Given the description of an element on the screen output the (x, y) to click on. 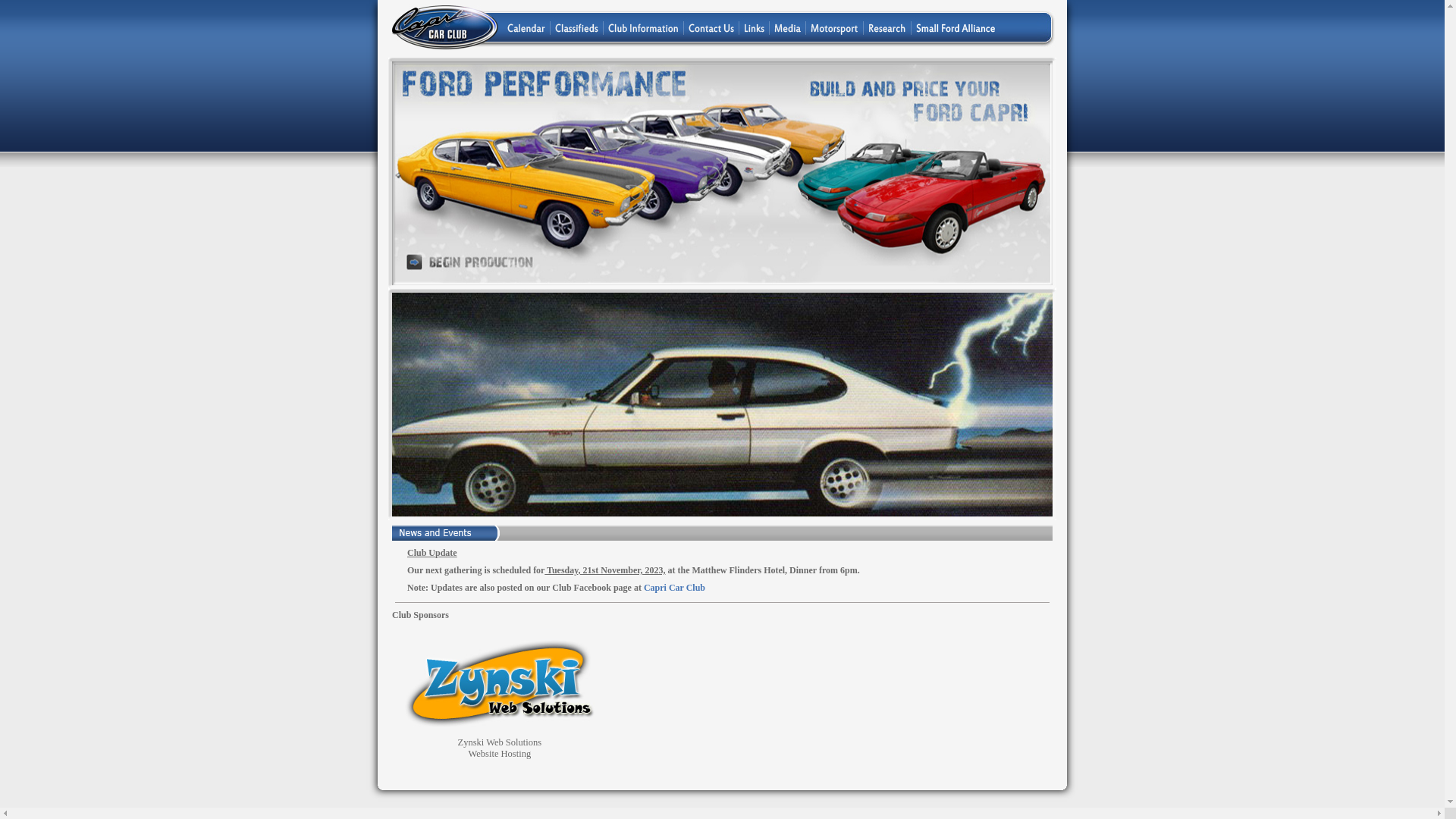
Capri Car Club Element type: text (674, 587)
